Given the description of an element on the screen output the (x, y) to click on. 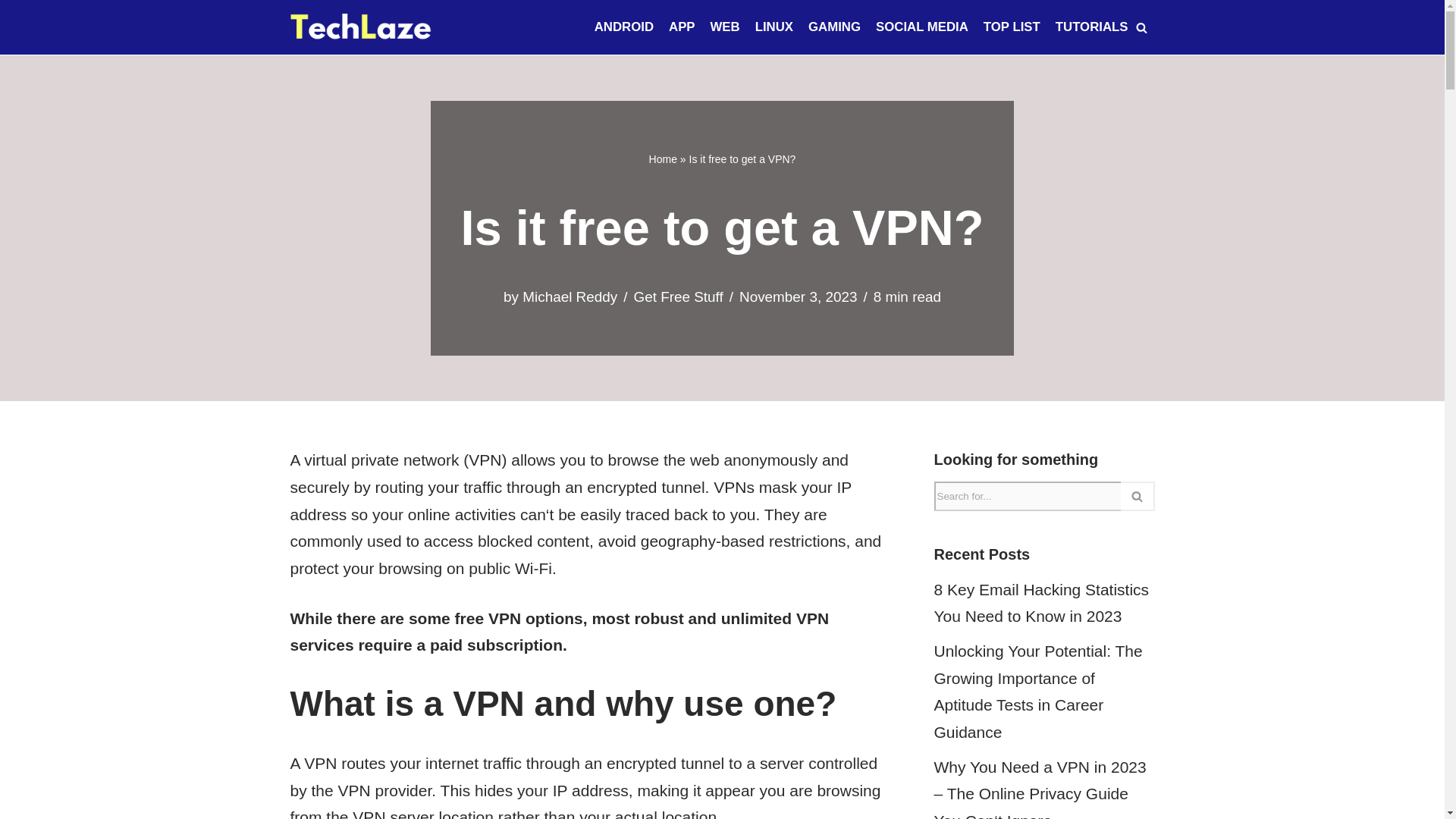
TUTORIALS (1091, 27)
Home (663, 159)
GAMING (834, 27)
Skip to content (11, 31)
TechLaze (359, 26)
ANDROID (623, 27)
WEB (724, 27)
TOP LIST (1012, 27)
APP (681, 27)
Get Free Stuff (677, 296)
SOCIAL MEDIA (922, 27)
LINUX (774, 27)
Posts by Michael Reddy (569, 296)
Michael Reddy (569, 296)
